Given the description of an element on the screen output the (x, y) to click on. 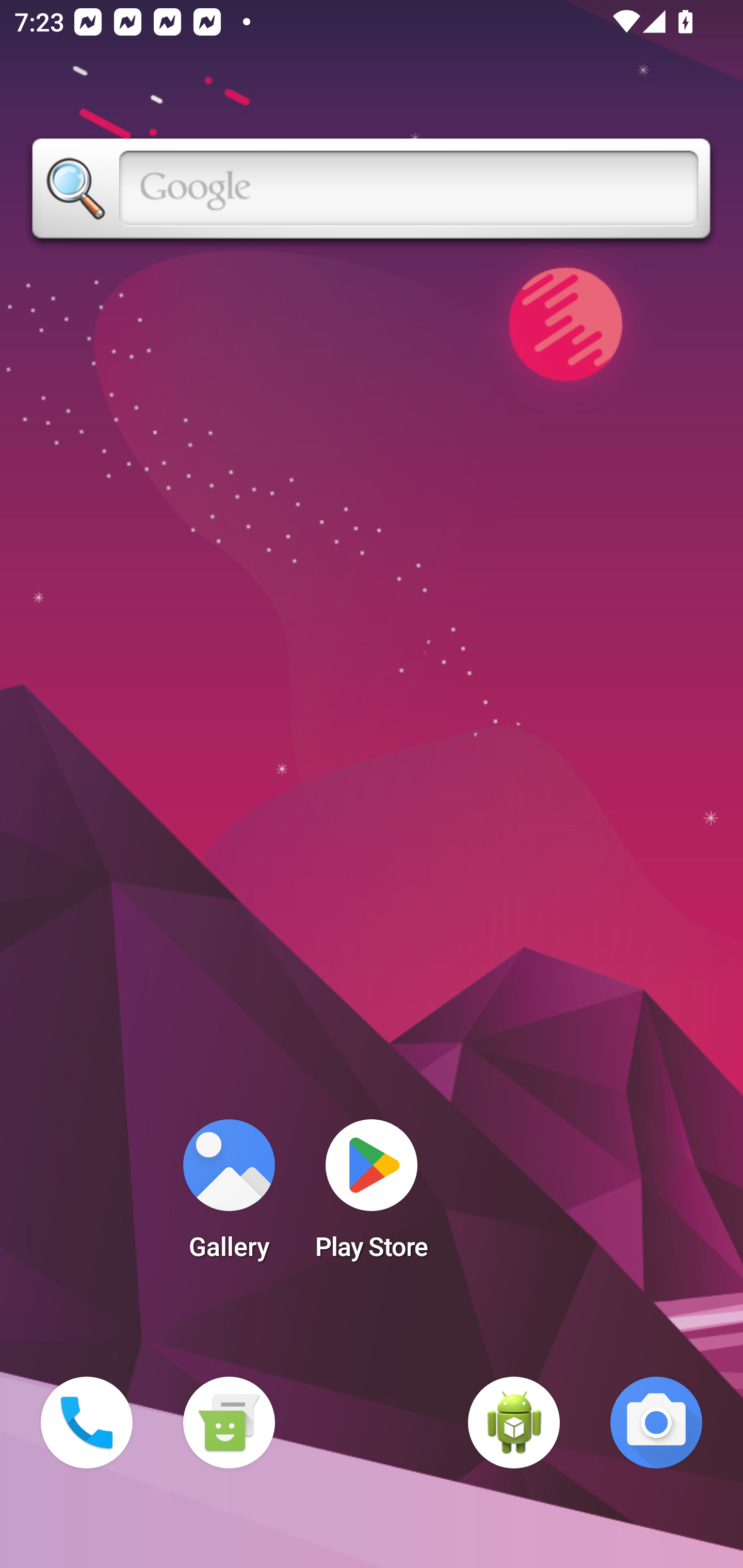
Gallery (228, 1195)
Play Store (371, 1195)
Phone (86, 1422)
Messaging (228, 1422)
WebView Browser Tester (513, 1422)
Camera (656, 1422)
